Given the description of an element on the screen output the (x, y) to click on. 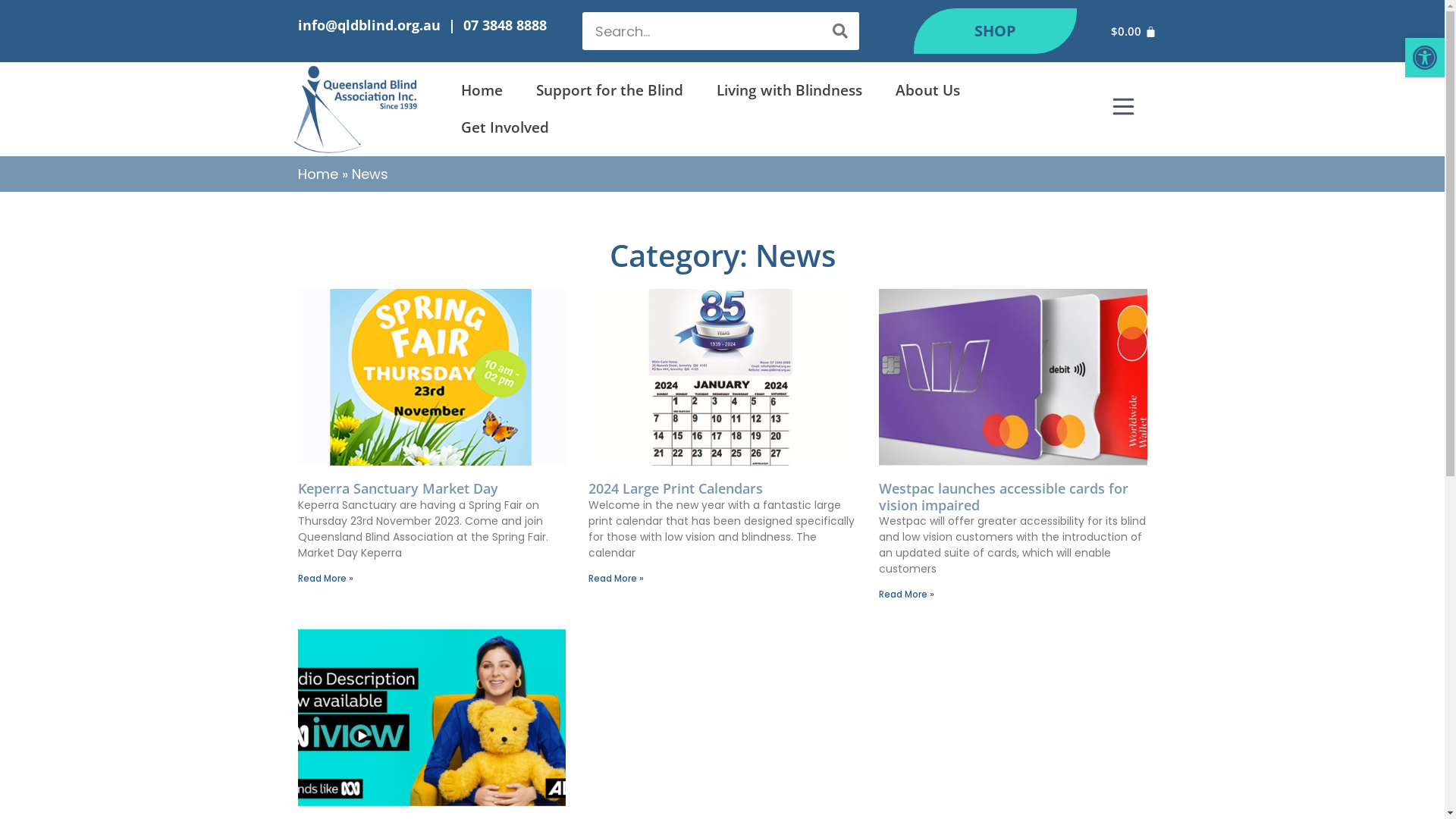
$0.00 Element type: text (1133, 31)
Keperra Sanctuary Market Day Element type: text (397, 488)
Living with Blindness Element type: text (788, 90)
2024 Large Print Calendars Element type: text (675, 488)
Support for the Blind Element type: text (609, 90)
Home Element type: text (481, 90)
Open toolbar
Accessibility Tools Element type: text (1424, 57)
Westpac launches accessible cards for vision impaired Element type: text (1003, 496)
Home Element type: text (317, 173)
About Us Element type: text (927, 90)
Get Involved Element type: text (504, 127)
SHOP Element type: text (995, 30)
